Given the description of an element on the screen output the (x, y) to click on. 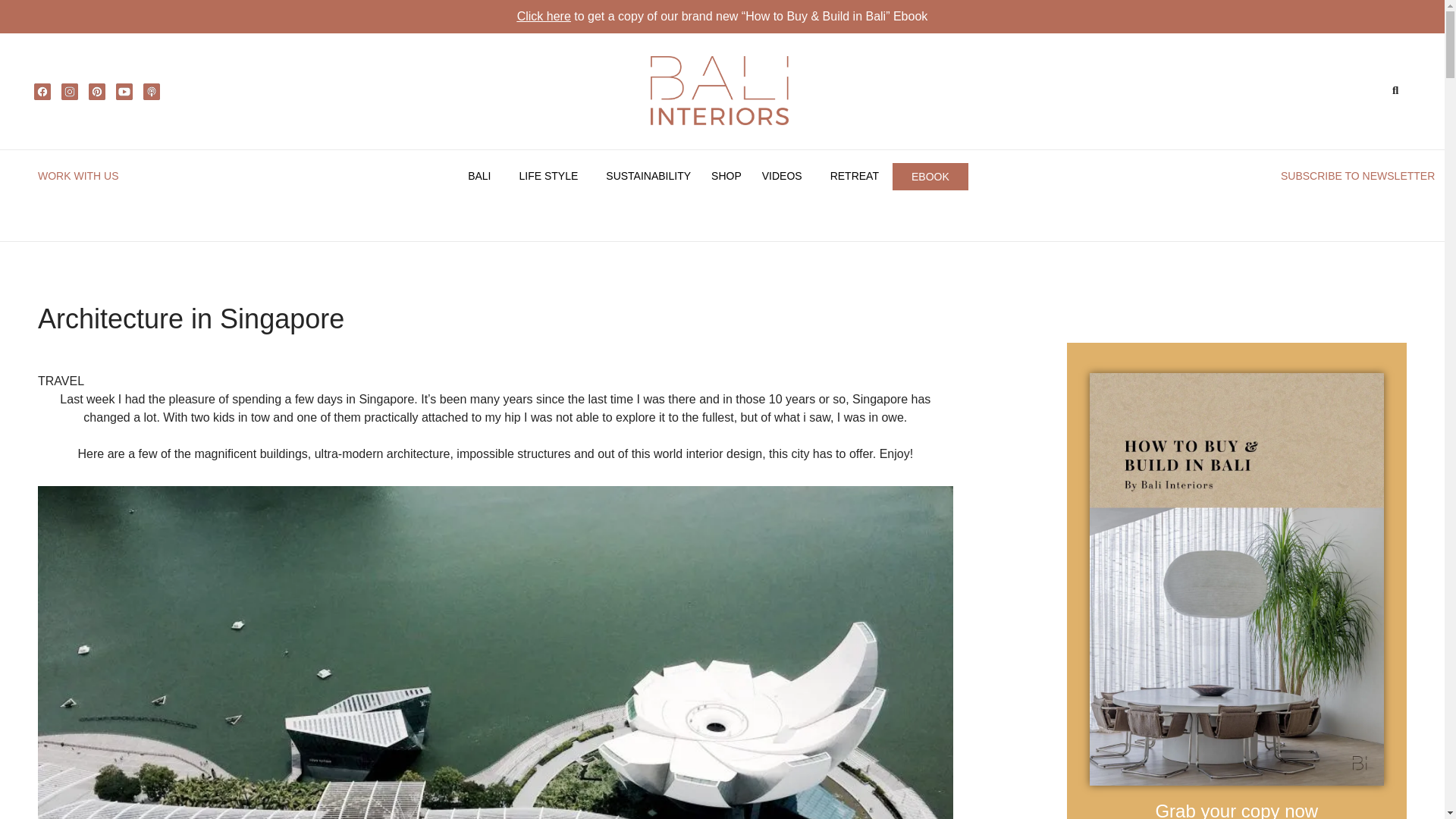
EBOOK (930, 176)
RETREAT (854, 175)
Click here (543, 15)
Search (1399, 90)
SUSTAINABILITY (647, 175)
LIFE STYLE (552, 175)
SHOP (726, 175)
BALI (483, 175)
VIDEOS (785, 175)
WORK WITH US (78, 175)
SUBSCRIBE TO NEWSLETTER (1357, 175)
sofcover (1236, 579)
